Given the description of an element on the screen output the (x, y) to click on. 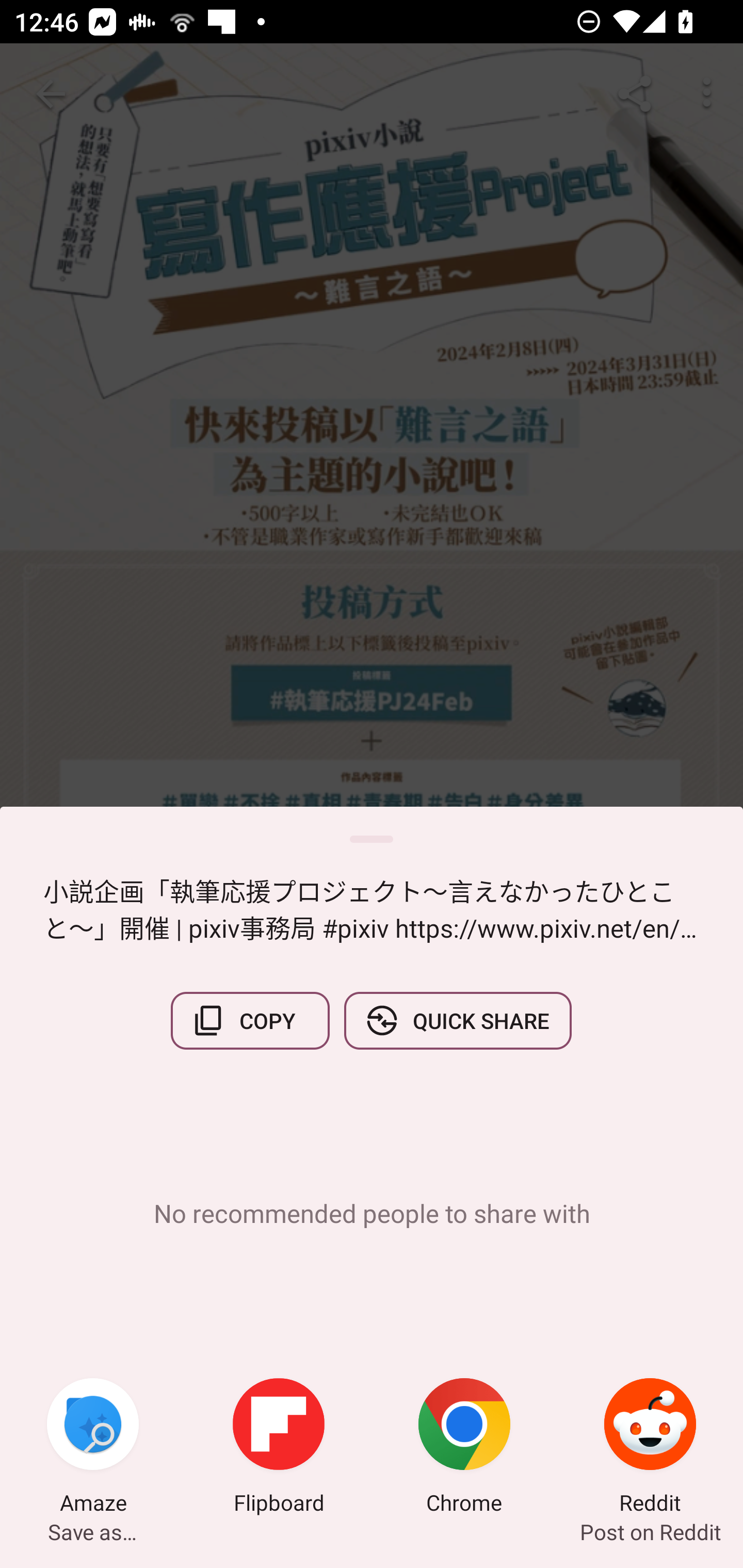
COPY (249, 1020)
QUICK SHARE (457, 1020)
Amaze Save as… (92, 1448)
Flipboard (278, 1448)
Chrome (464, 1448)
Reddit Post on Reddit (650, 1448)
